Given the description of an element on the screen output the (x, y) to click on. 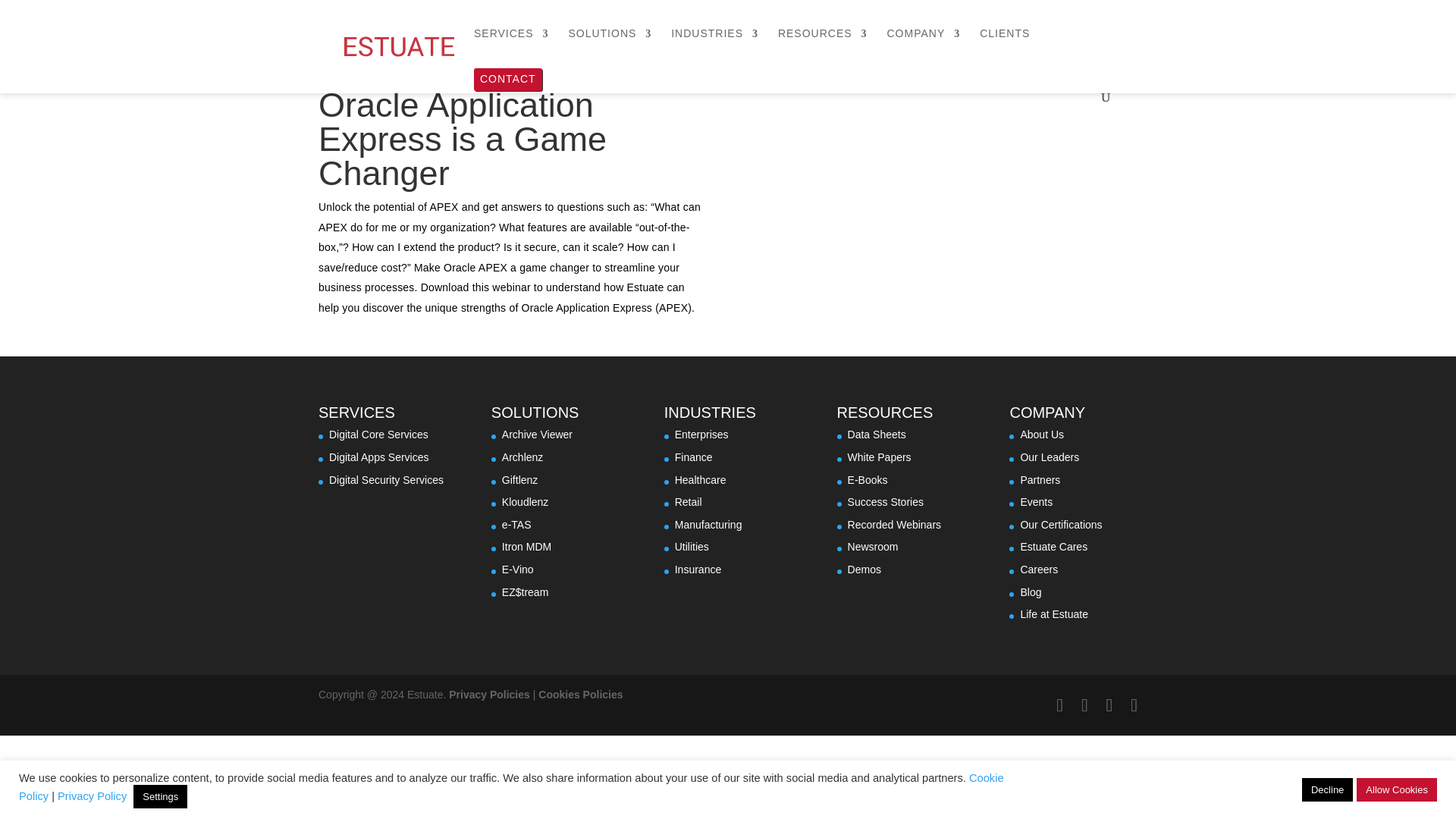
SERVICES (511, 46)
